Given the description of an element on the screen output the (x, y) to click on. 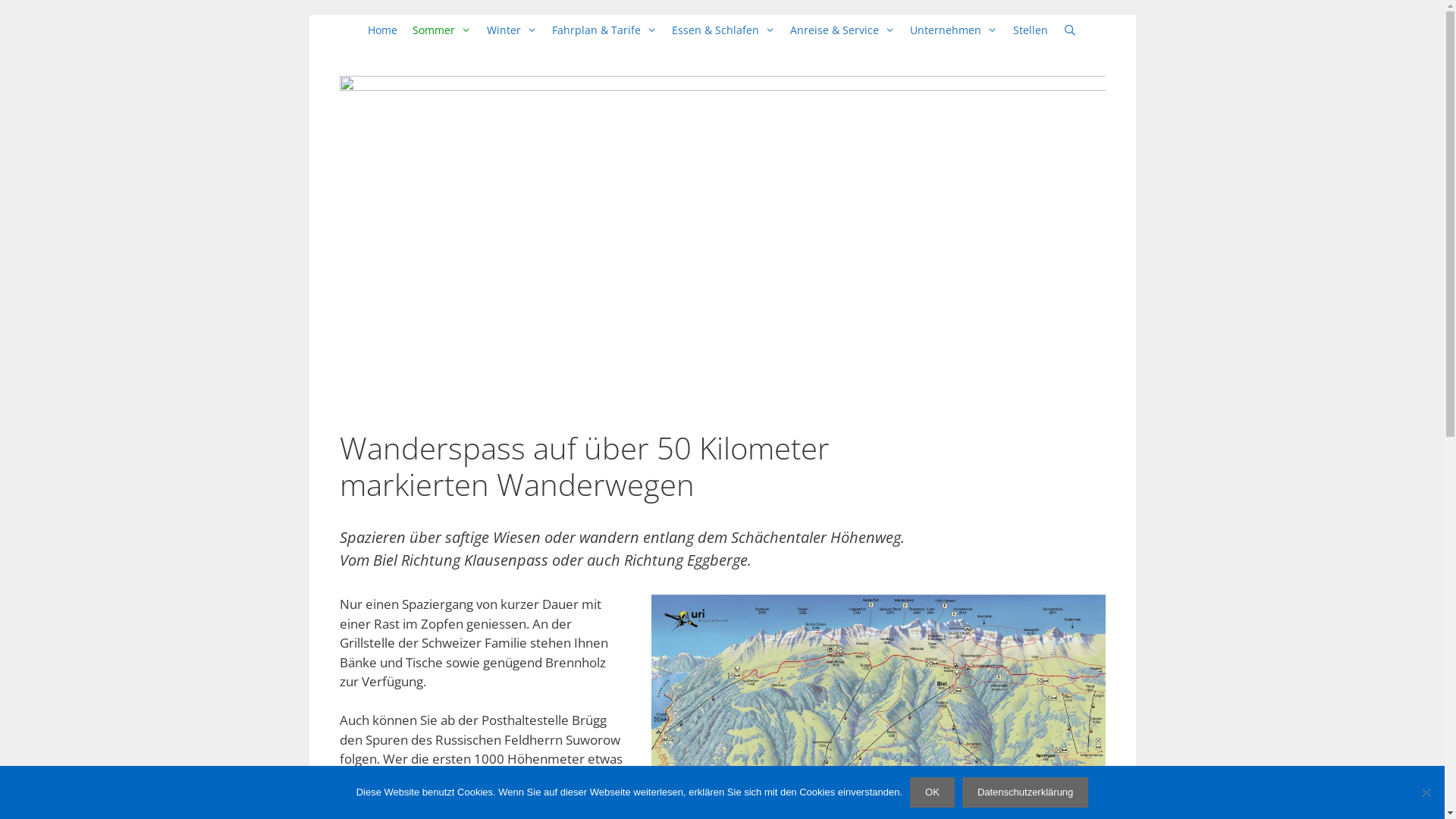
Nein Element type: hover (1425, 792)
Unternehmen Element type: text (953, 30)
Sommer Element type: text (441, 30)
Essen & Schlafen Element type: text (723, 30)
OK Element type: text (932, 792)
Home Element type: text (382, 30)
Fahrplan & Tarife Element type: text (604, 30)
Winter Element type: text (511, 30)
Anreise & Service Element type: text (842, 30)
Stellen Element type: text (1030, 30)
